Given the description of an element on the screen output the (x, y) to click on. 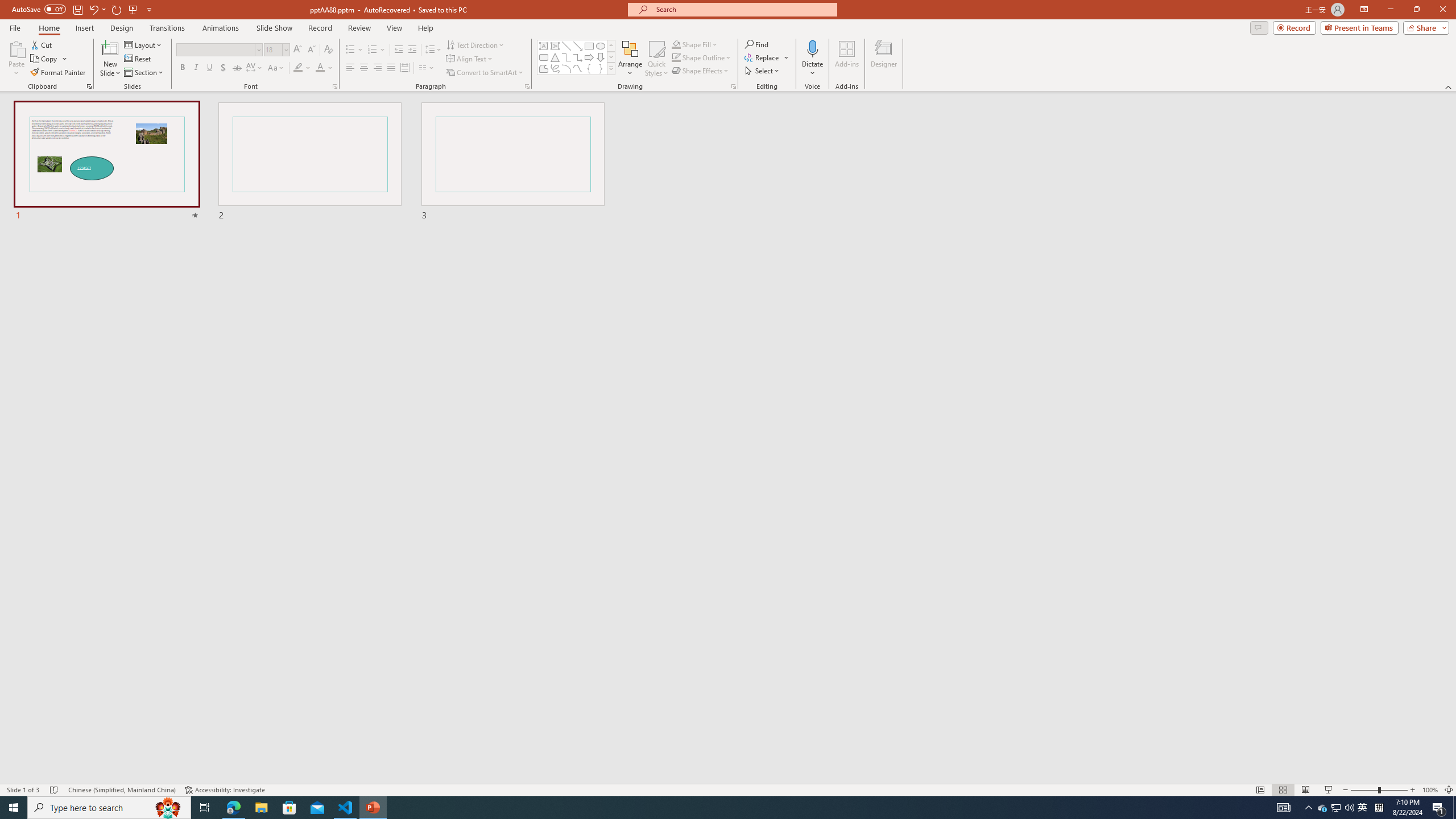
Increase Indent (412, 49)
Arrow: Right (589, 57)
Left Brace (589, 68)
Arc (566, 68)
Line Arrow (577, 45)
